Given the description of an element on the screen output the (x, y) to click on. 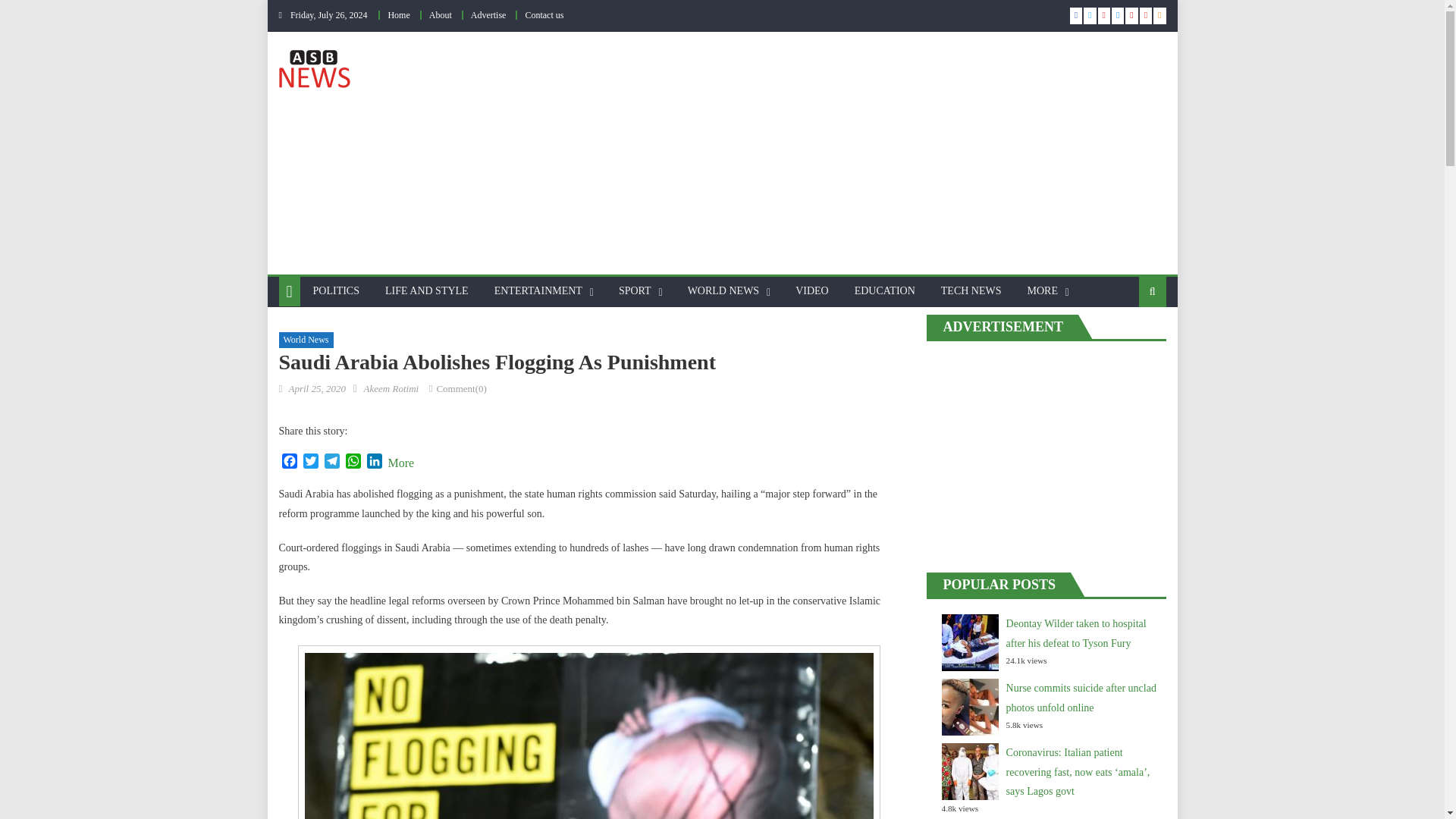
World News (306, 340)
MORE (1042, 290)
Akeem Rotimi (391, 388)
WORLD NEWS (724, 290)
Telegram (331, 462)
LIFE AND STYLE (427, 290)
Twitter (310, 462)
WhatsApp (353, 462)
TECH NEWS (971, 290)
Saudi Arabia abolishes flogging as punishment 2 (589, 735)
VIDEO (812, 290)
Home (398, 14)
Twitter (310, 462)
Facebook (289, 462)
Search (1128, 339)
